Given the description of an element on the screen output the (x, y) to click on. 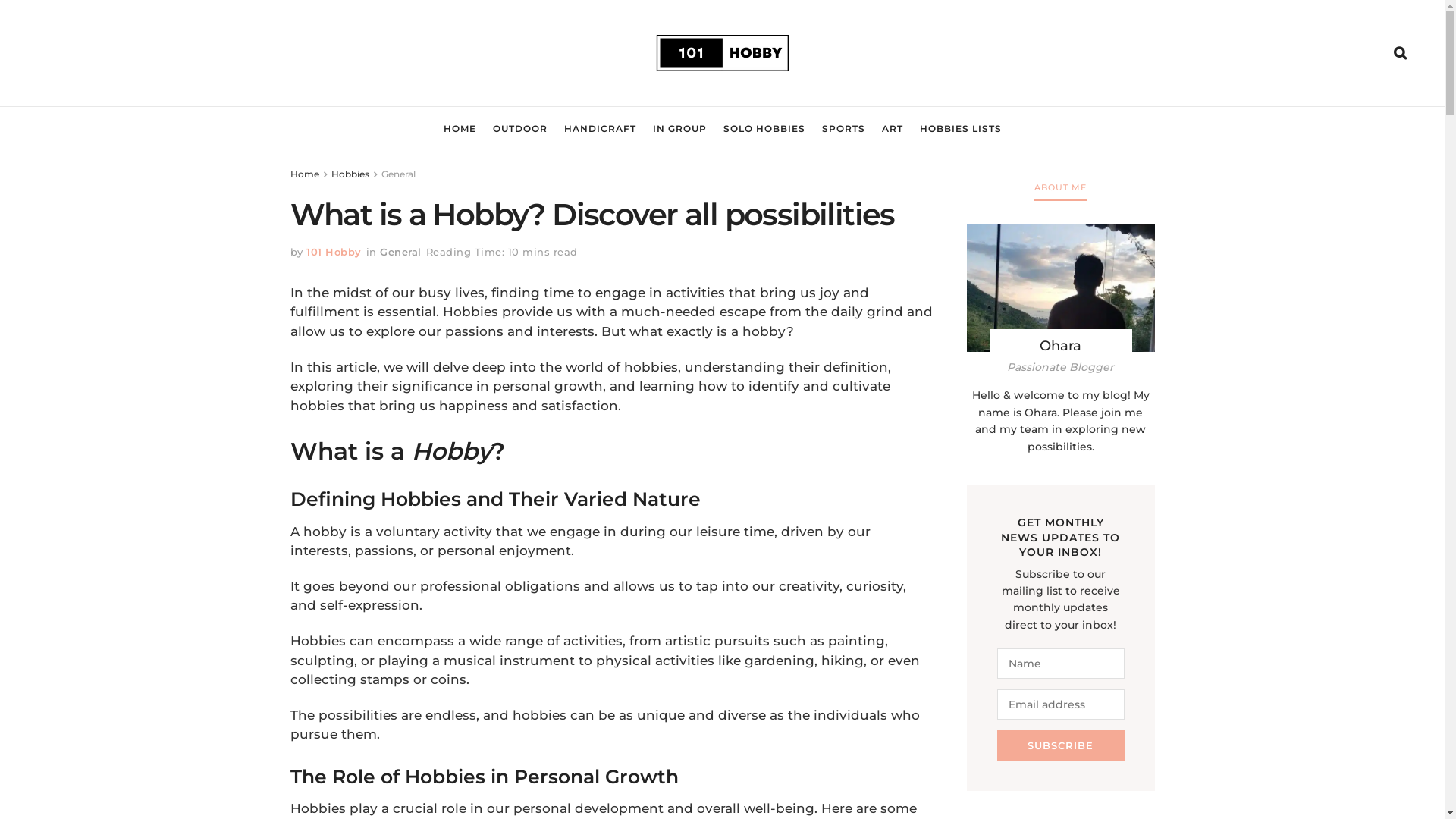
Hobbies Element type: text (349, 173)
SPORTS Element type: text (843, 128)
General Element type: text (397, 173)
HANDICRAFT Element type: text (600, 128)
SUBSCRIBE Element type: text (1060, 745)
IN GROUP Element type: text (679, 128)
OUTDOOR Element type: text (519, 128)
SOLO HOBBIES Element type: text (764, 128)
HOBBIES LISTS Element type: text (960, 128)
ART Element type: text (891, 128)
HOME Element type: text (458, 128)
Home Element type: text (303, 173)
101 Hobby Element type: text (333, 251)
General Element type: text (400, 251)
